Given the description of an element on the screen output the (x, y) to click on. 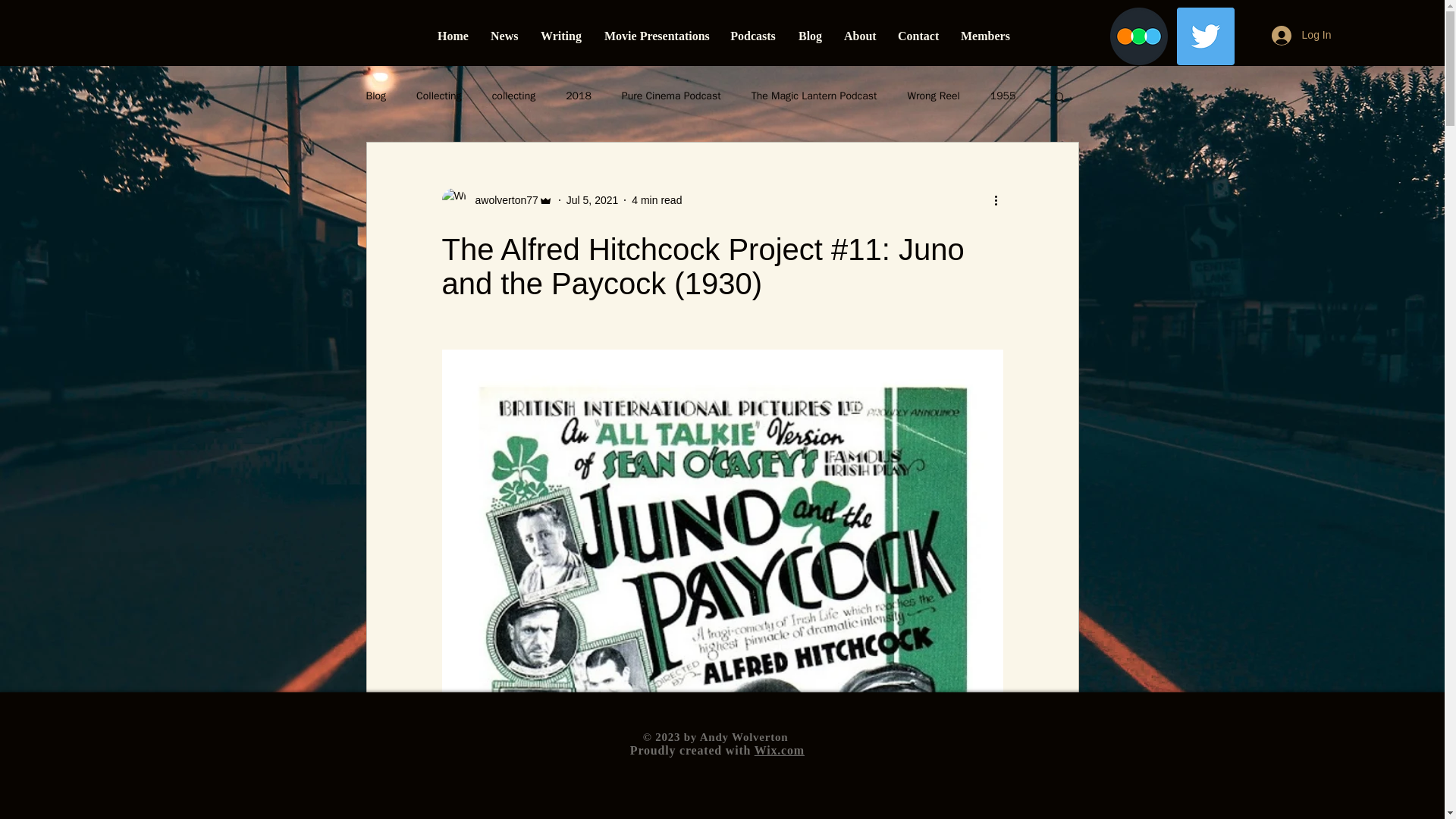
Members (983, 35)
Contact (917, 35)
Log In (1301, 35)
awolverton77 (501, 200)
Movie Presentations (655, 35)
1955 (1003, 96)
News (504, 35)
Jul 5, 2021 (592, 200)
Blog (809, 35)
Home (452, 35)
